Given the description of an element on the screen output the (x, y) to click on. 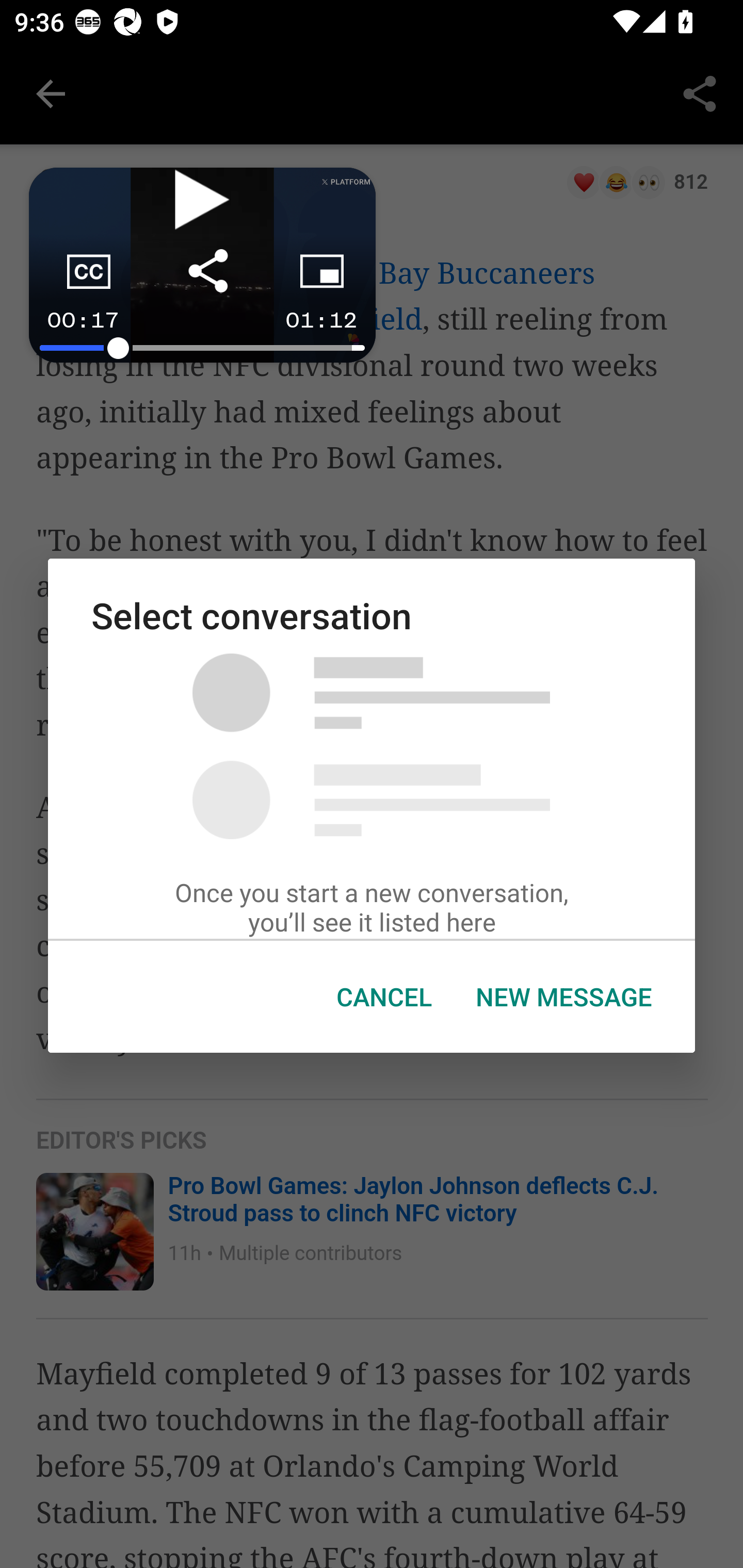
CANCEL (384, 996)
NEW MESSAGE (563, 996)
